Given the description of an element on the screen output the (x, y) to click on. 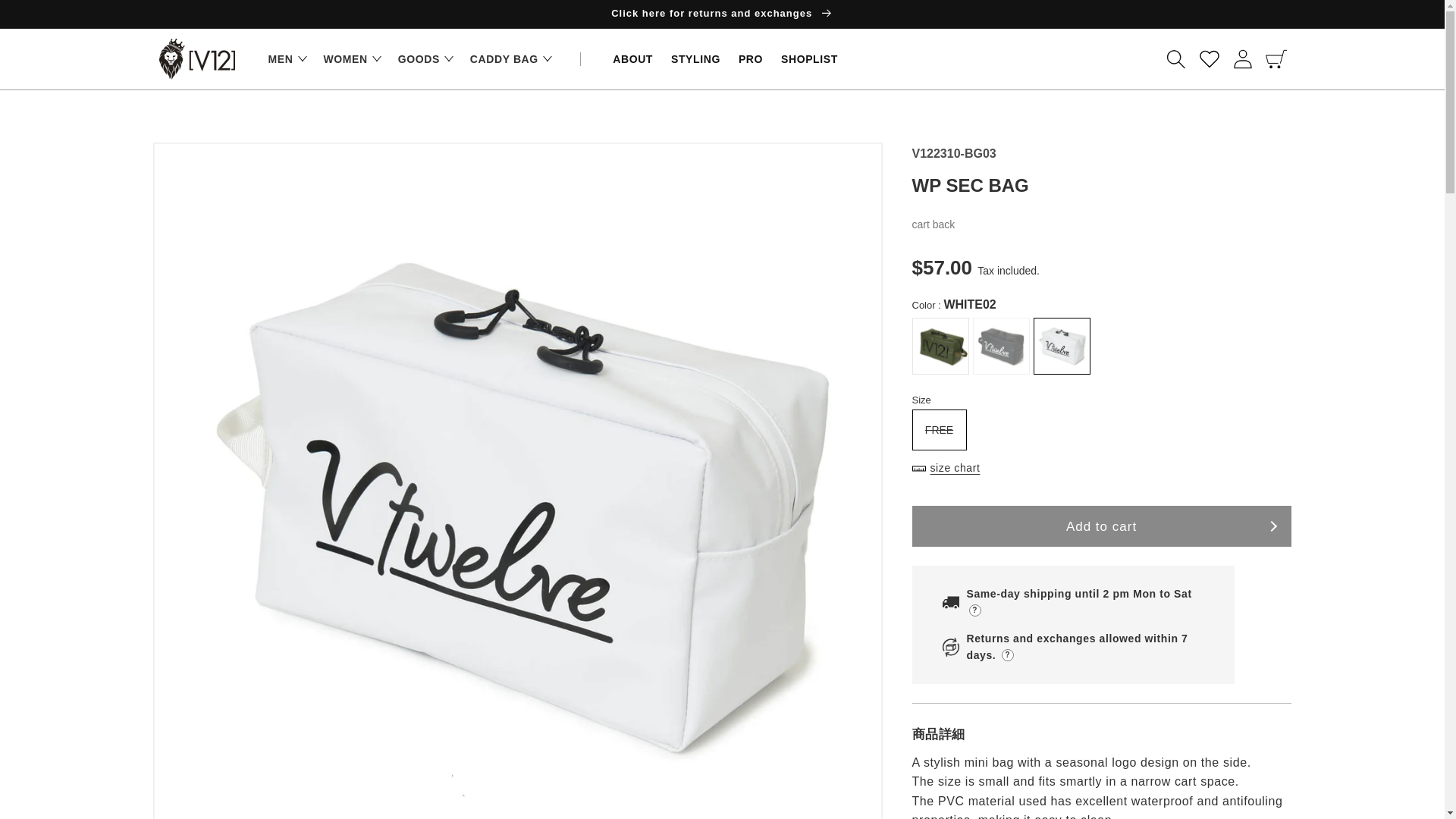
Skip to content (45, 16)
